Given the description of an element on the screen output the (x, y) to click on. 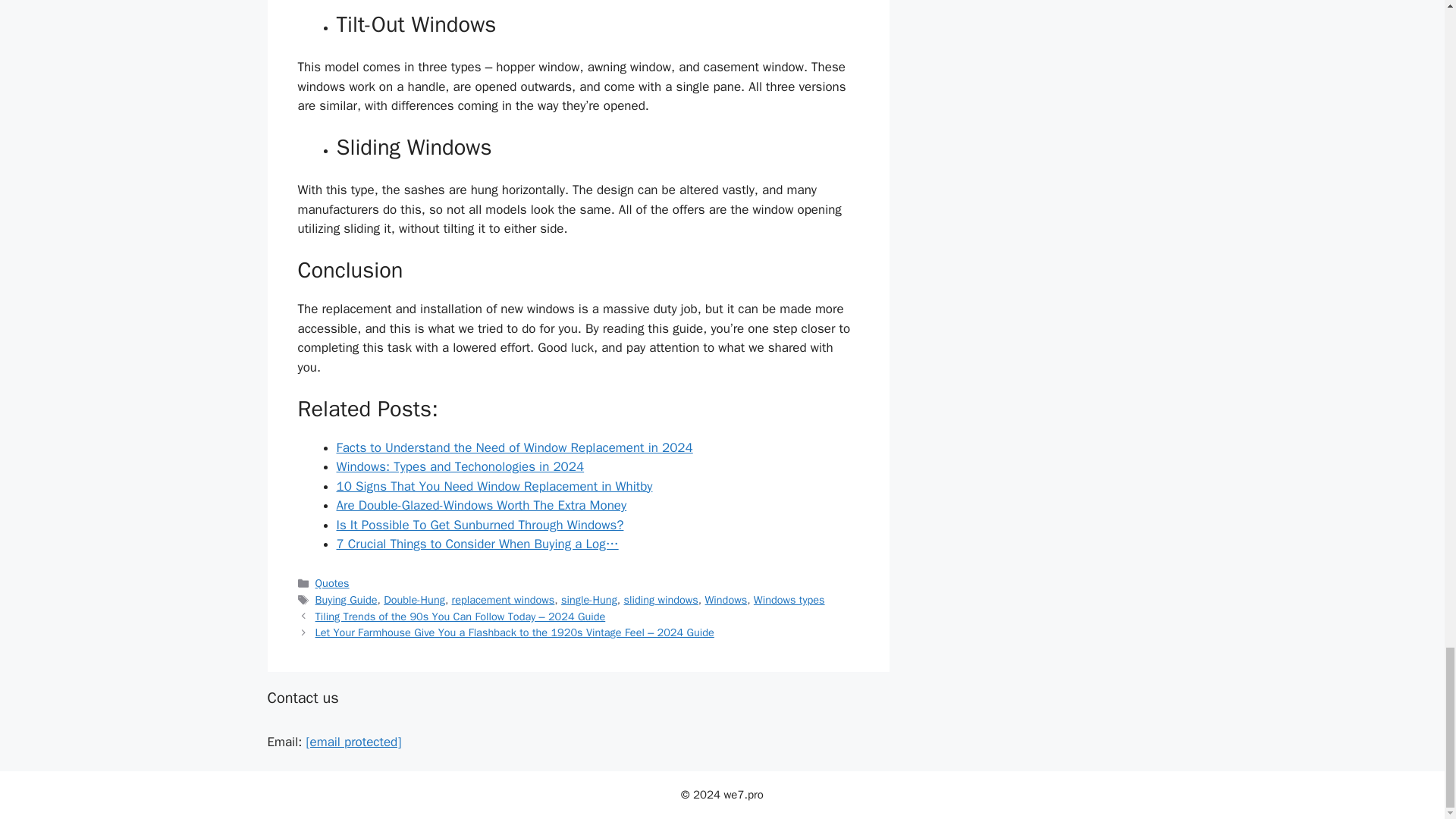
Is It Possible To Get Sunburned Through Windows? (480, 524)
Double-Hung (414, 599)
Buying Guide (346, 599)
single-Hung (588, 599)
Quotes (332, 582)
replacement windows (502, 599)
Windows: Types and Techonologies in 2024 (460, 466)
Windows types (789, 599)
Are Double-Glazed-Windows Worth The Extra Money (481, 505)
sliding windows (661, 599)
